Given the description of an element on the screen output the (x, y) to click on. 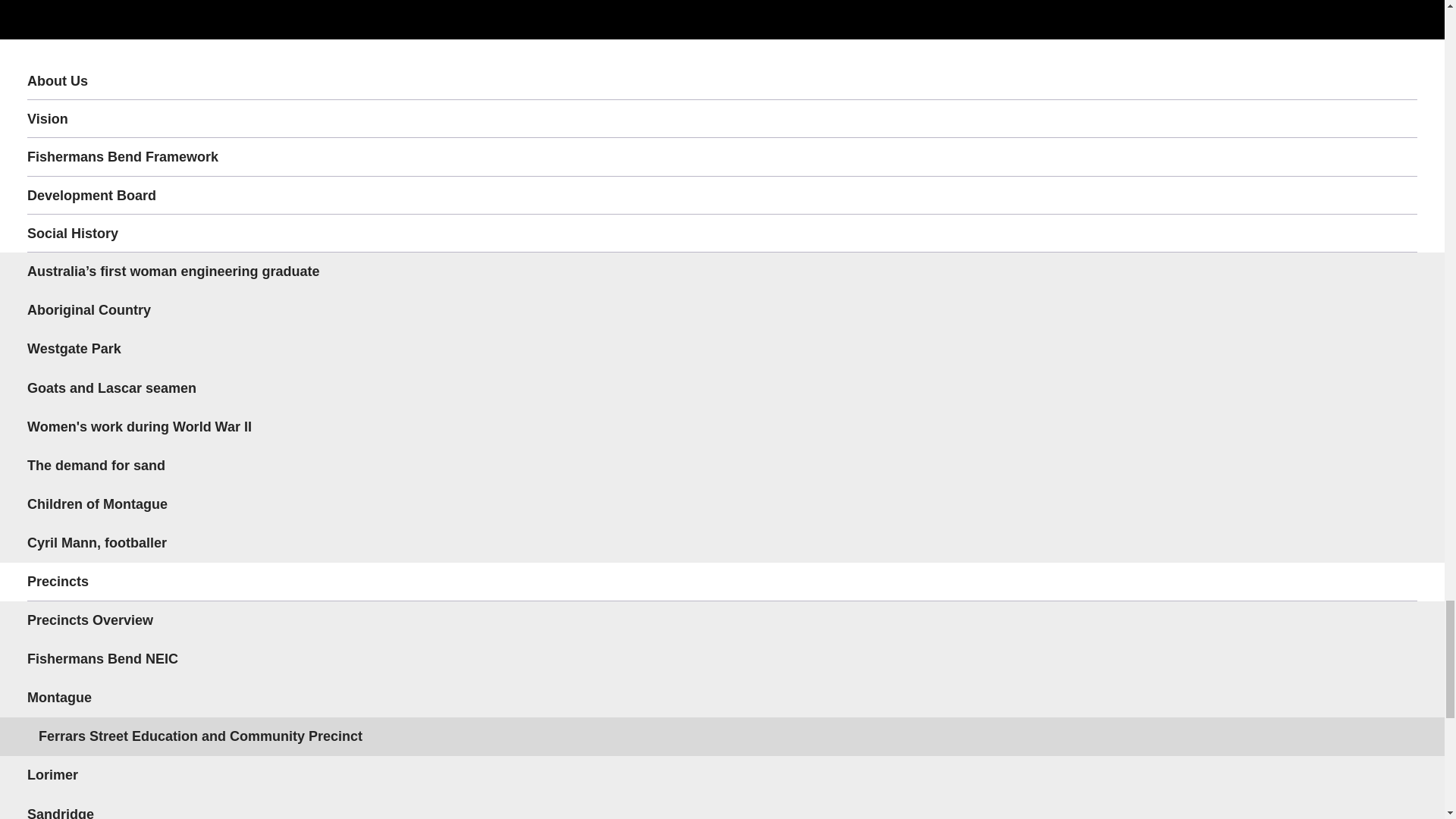
Open submenu (1397, 697)
Open submenu (1397, 233)
Open submenu (1397, 581)
